Given the description of an element on the screen output the (x, y) to click on. 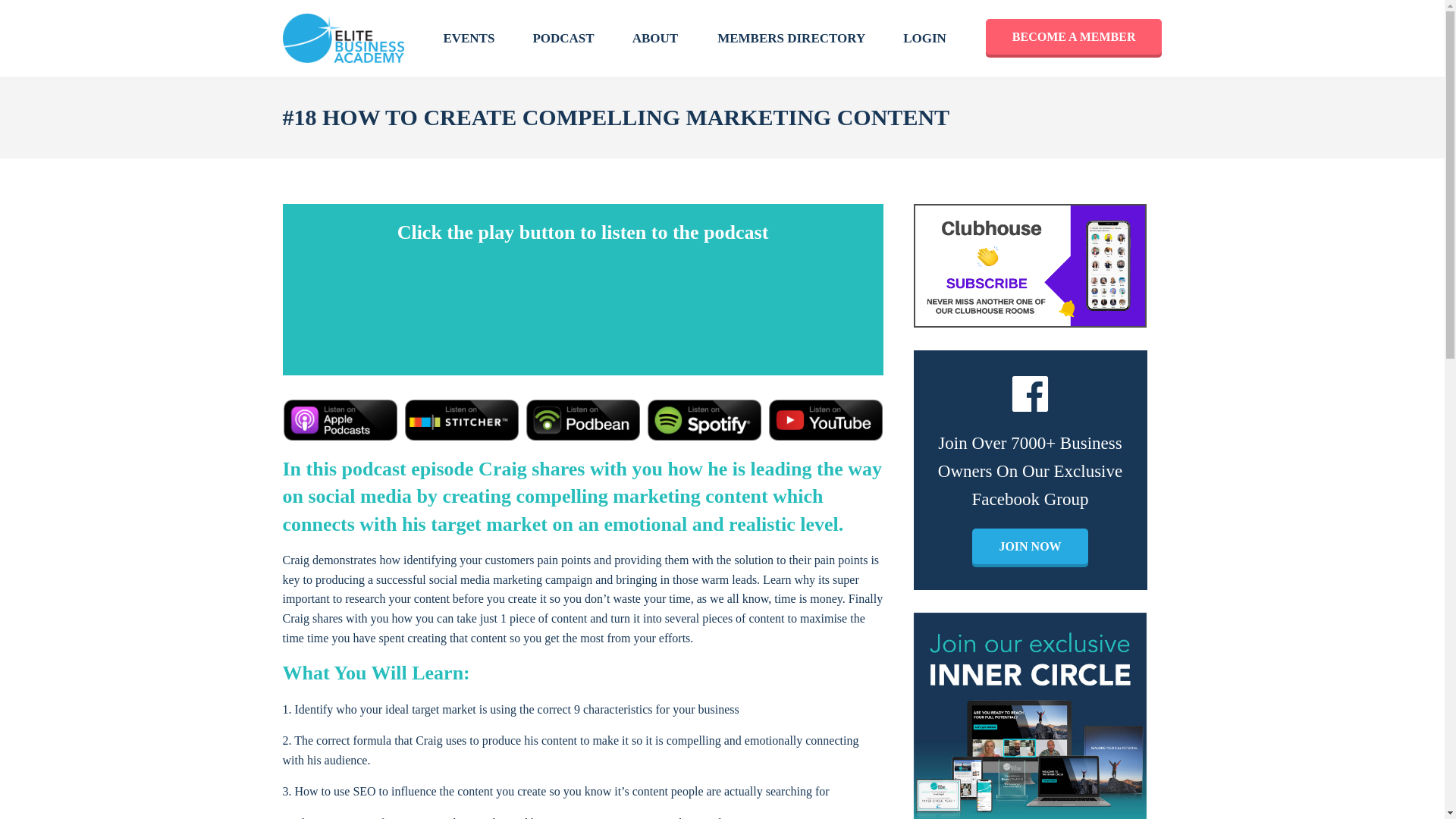
EVENTS (468, 37)
LOGIN (924, 37)
BECOME A MEMBER (1073, 37)
MEMBERS DIRECTORY (790, 37)
ABOUT (655, 37)
JOIN NOW (1029, 547)
PODCAST (562, 37)
